Given the description of an element on the screen output the (x, y) to click on. 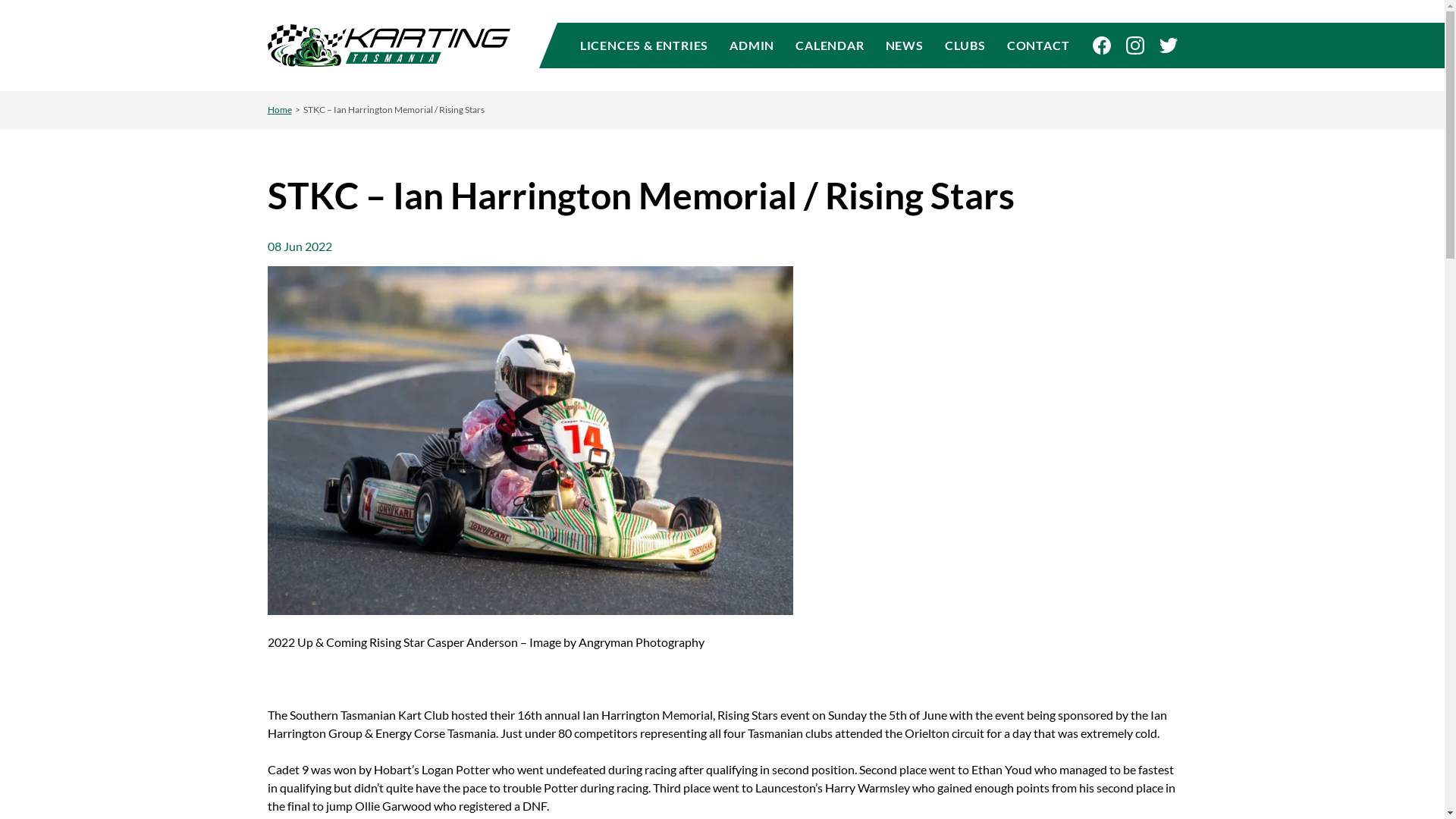
Home Element type: text (278, 109)
CALENDAR Element type: text (829, 45)
NEWS Element type: text (904, 45)
ADMIN Element type: text (751, 45)
LICENCES & ENTRIES Element type: text (649, 45)
CONTACT Element type: text (1033, 45)
CLUBS Element type: text (965, 45)
